Given the description of an element on the screen output the (x, y) to click on. 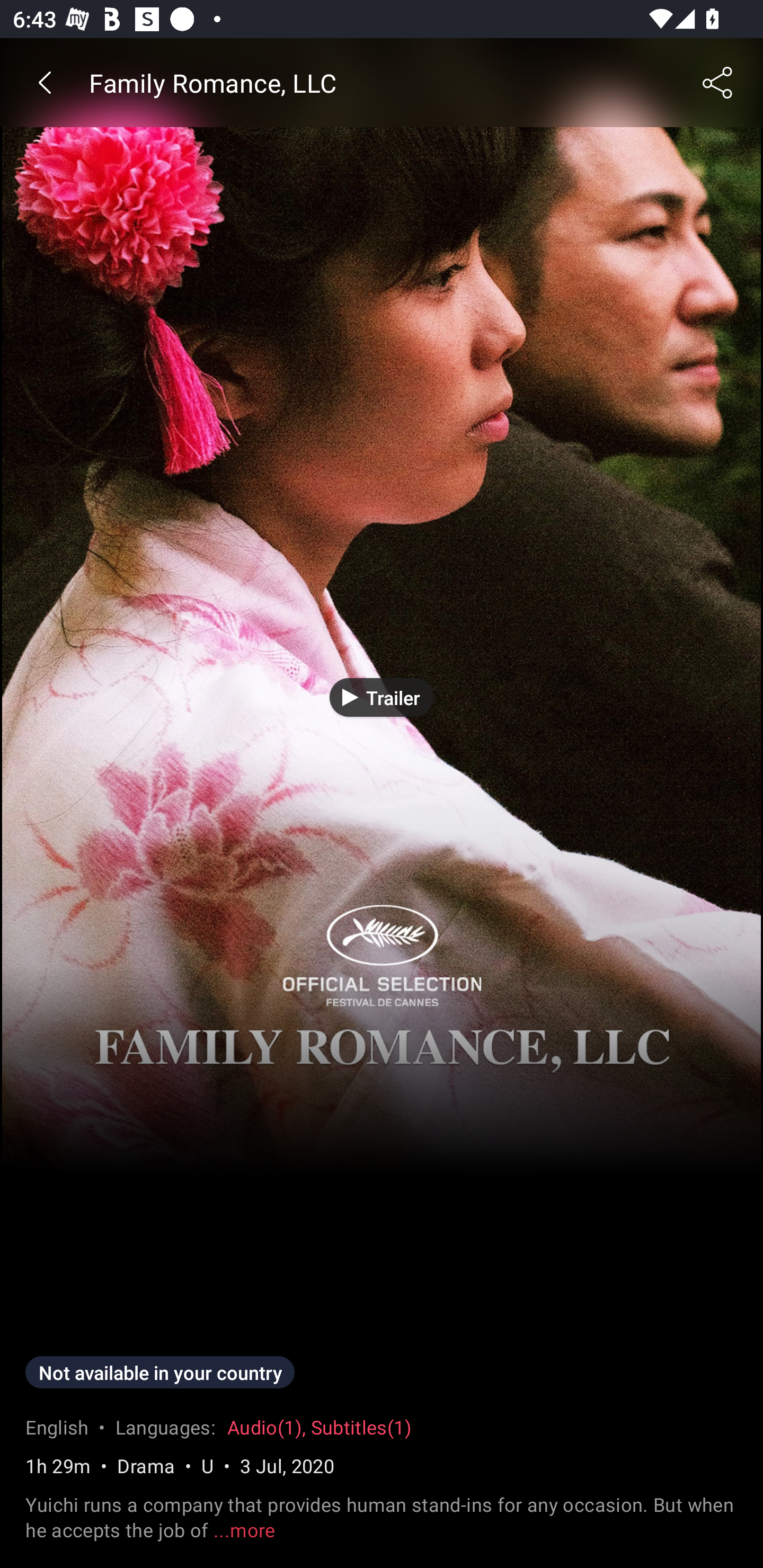
Back (44, 82)
Share (718, 82)
Trailer (381, 696)
English  •  Languages:  Audio(1), Subtitles(1) (218, 1432)
